Given the description of an element on the screen output the (x, y) to click on. 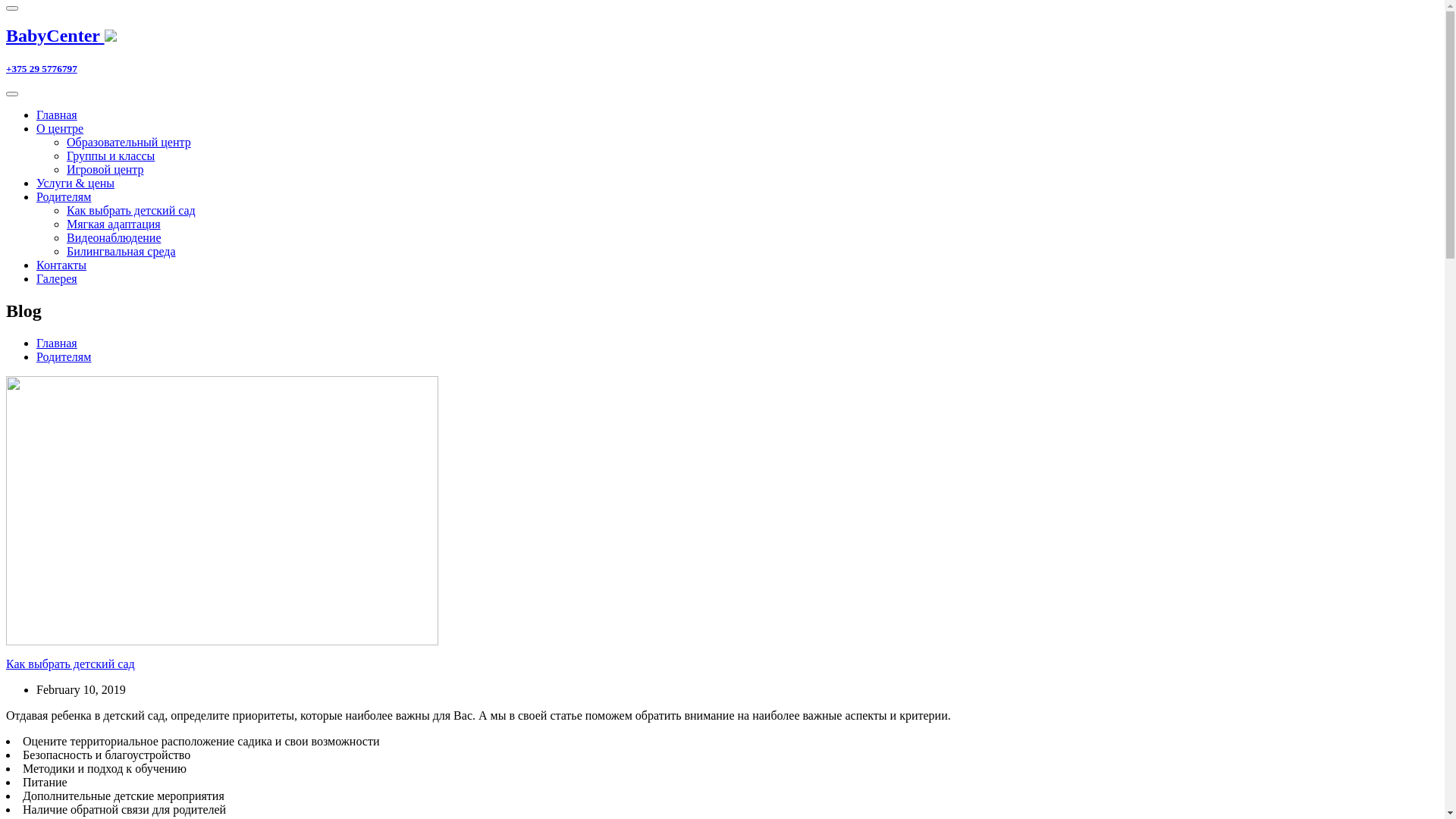
+375 29 5776797 Element type: text (722, 68)
BabyCenter Element type: text (722, 35)
